Given the description of an element on the screen output the (x, y) to click on. 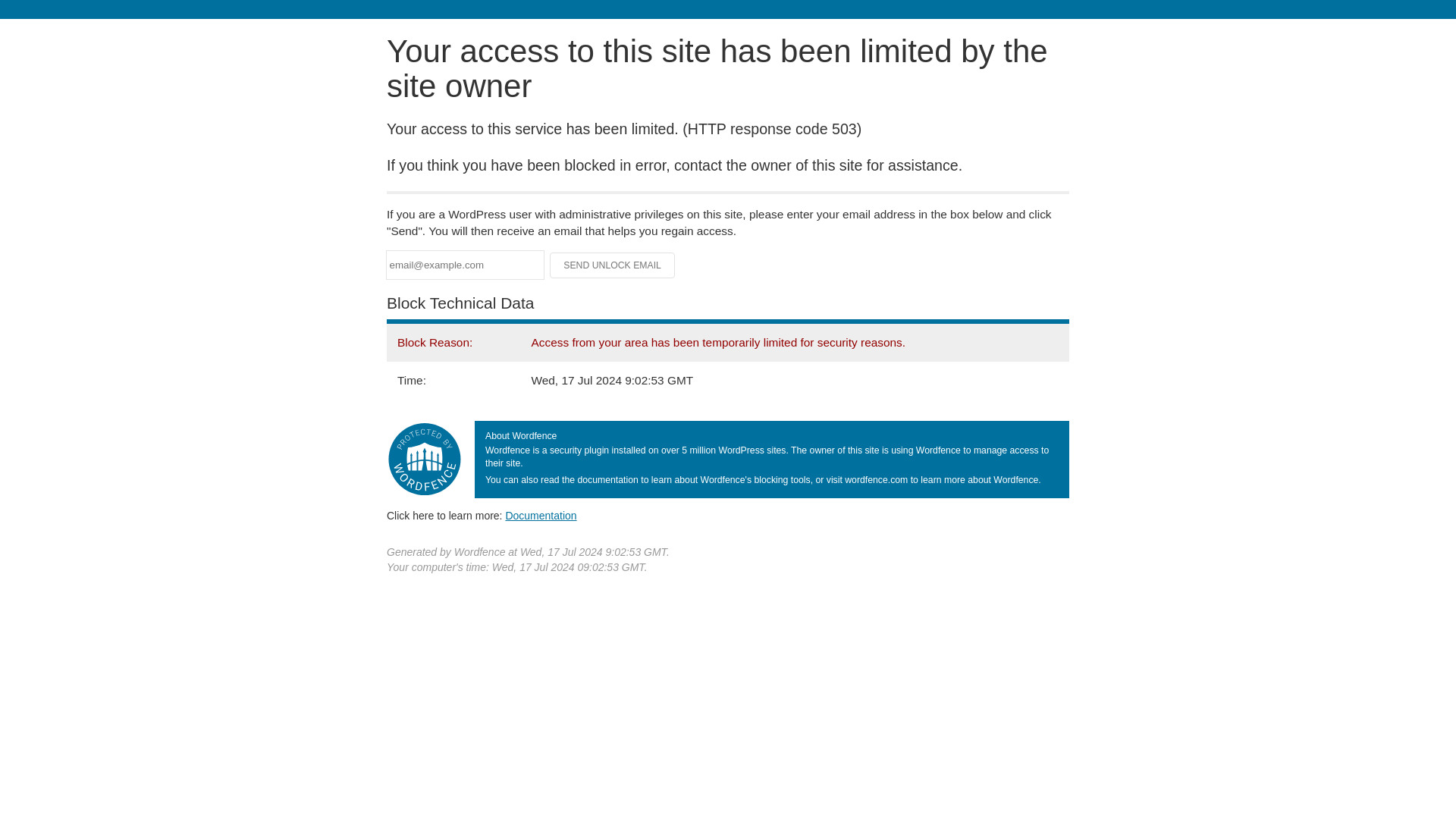
Documentation (540, 515)
Send Unlock Email (612, 265)
Send Unlock Email (612, 265)
